Given the description of an element on the screen output the (x, y) to click on. 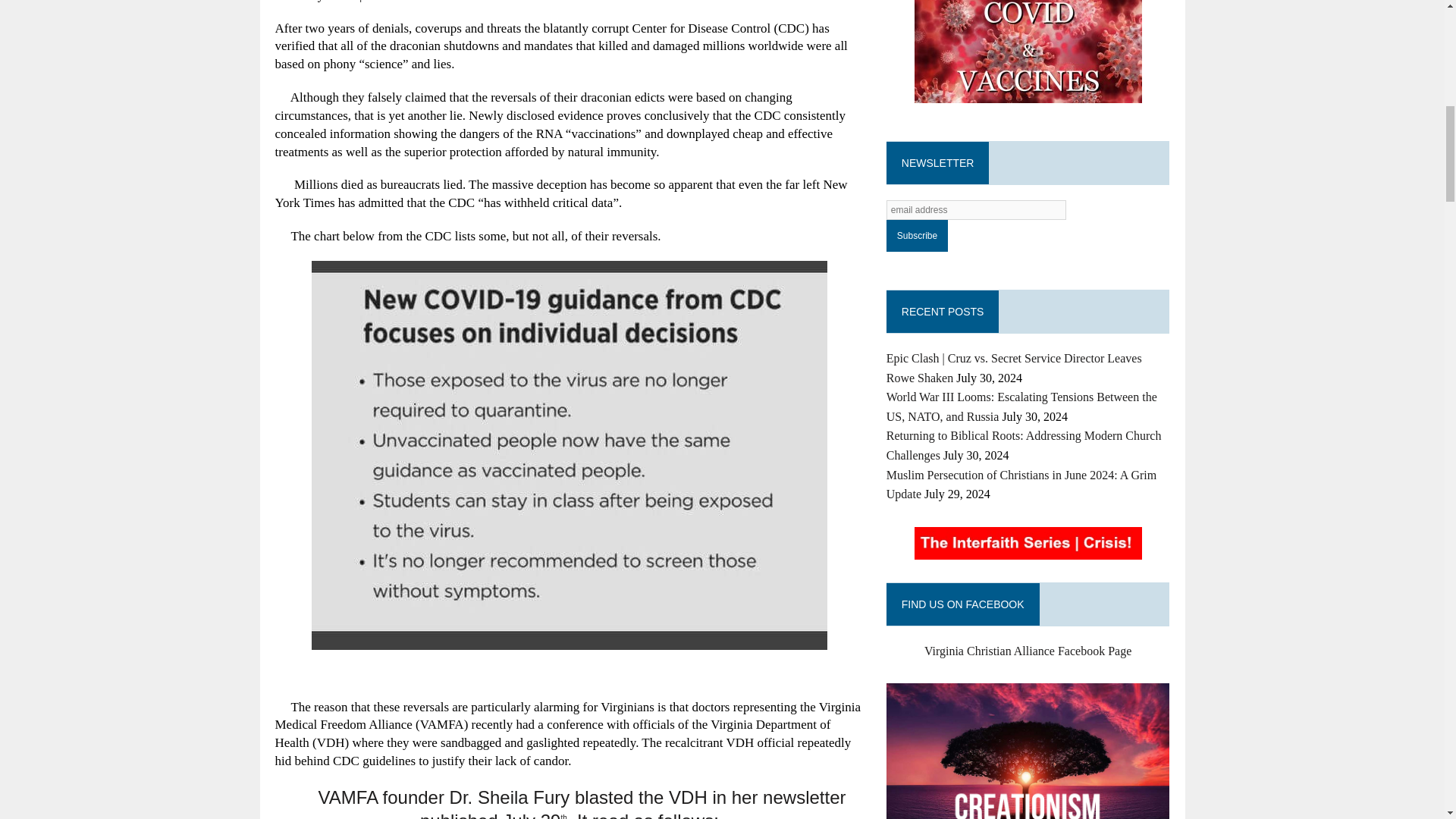
Subscribe (916, 235)
